Given the description of an element on the screen output the (x, y) to click on. 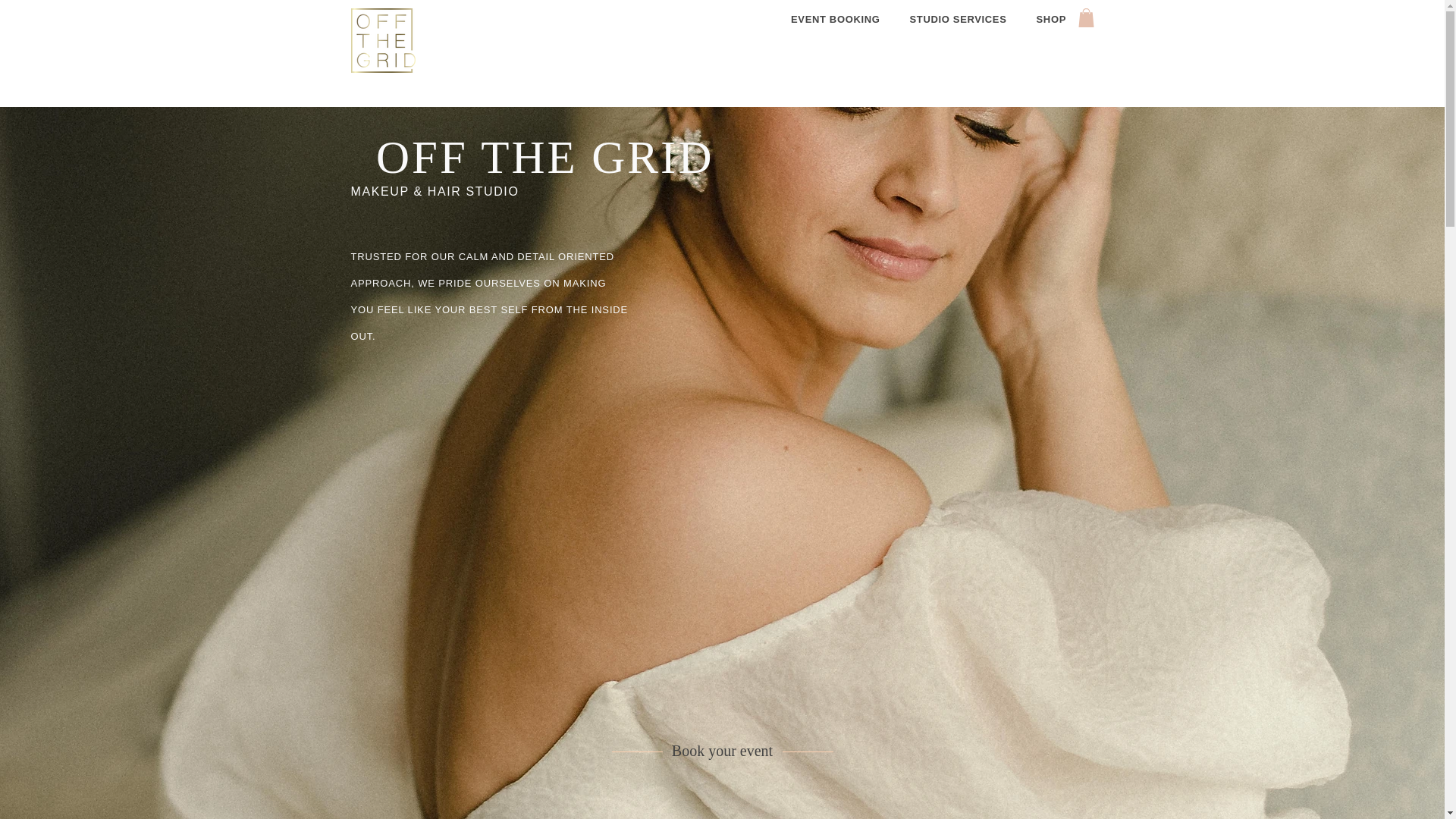
OTGLogo-1.png (382, 40)
EVENT BOOKING (835, 19)
Book your event (722, 750)
STUDIO SERVICES (957, 19)
SHOP (1051, 19)
